Given the description of an element on the screen output the (x, y) to click on. 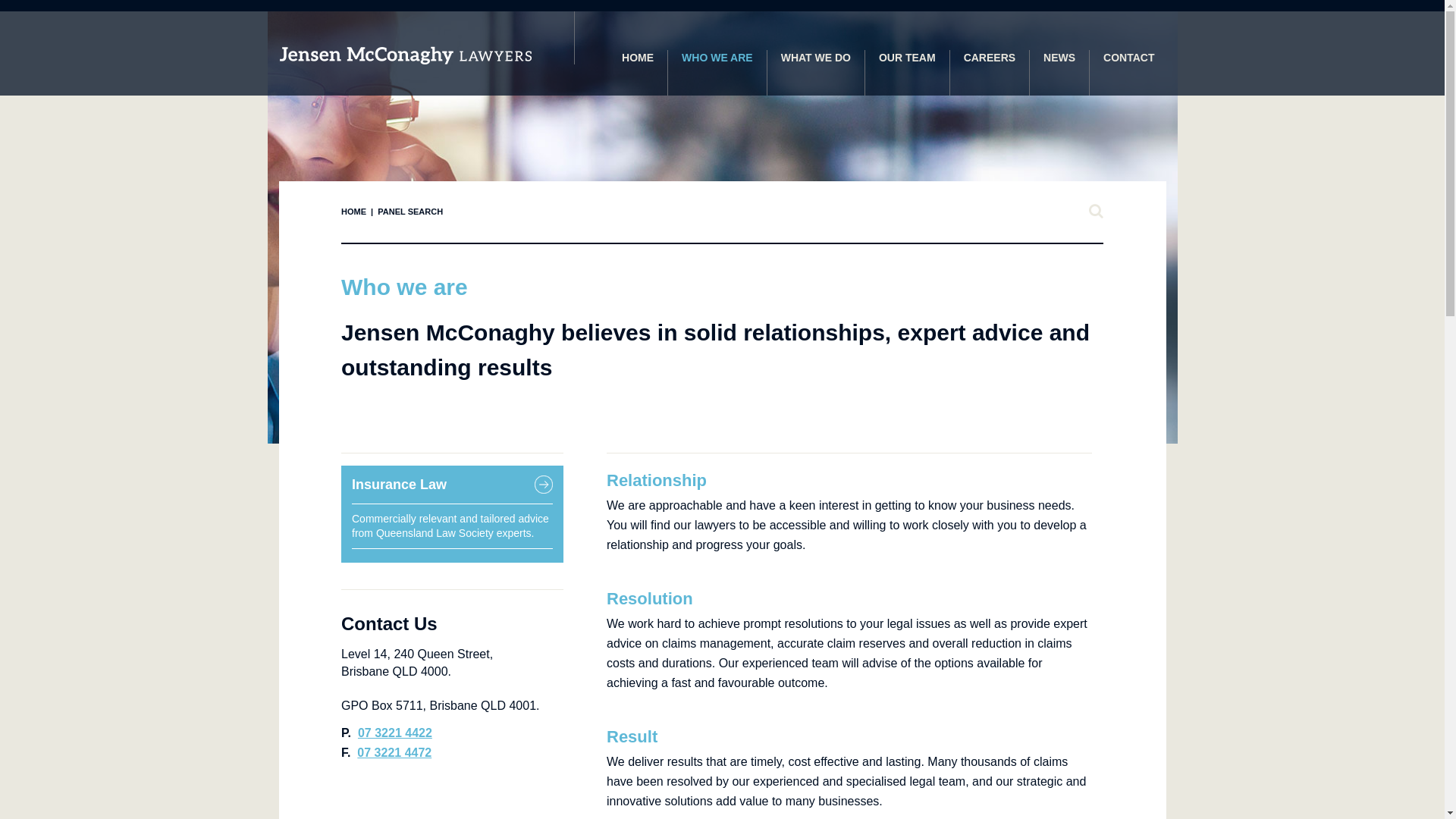
HOME Element type: text (638, 72)
OUR TEAM Element type: text (907, 72)
WHAT WE DO Element type: text (816, 72)
07 3221 4472 Element type: text (394, 752)
CAREERS Element type: text (989, 72)
Close Element type: hover (1095, 211)
CONTACT Element type: text (1121, 72)
NEWS Element type: text (1059, 72)
WHO WE ARE Element type: text (717, 72)
07 3221 4422 Element type: text (394, 732)
Jensen McConaghy Element type: hover (405, 53)
HOME Element type: text (353, 211)
Insurance Law Element type: text (398, 484)
